Given the description of an element on the screen output the (x, y) to click on. 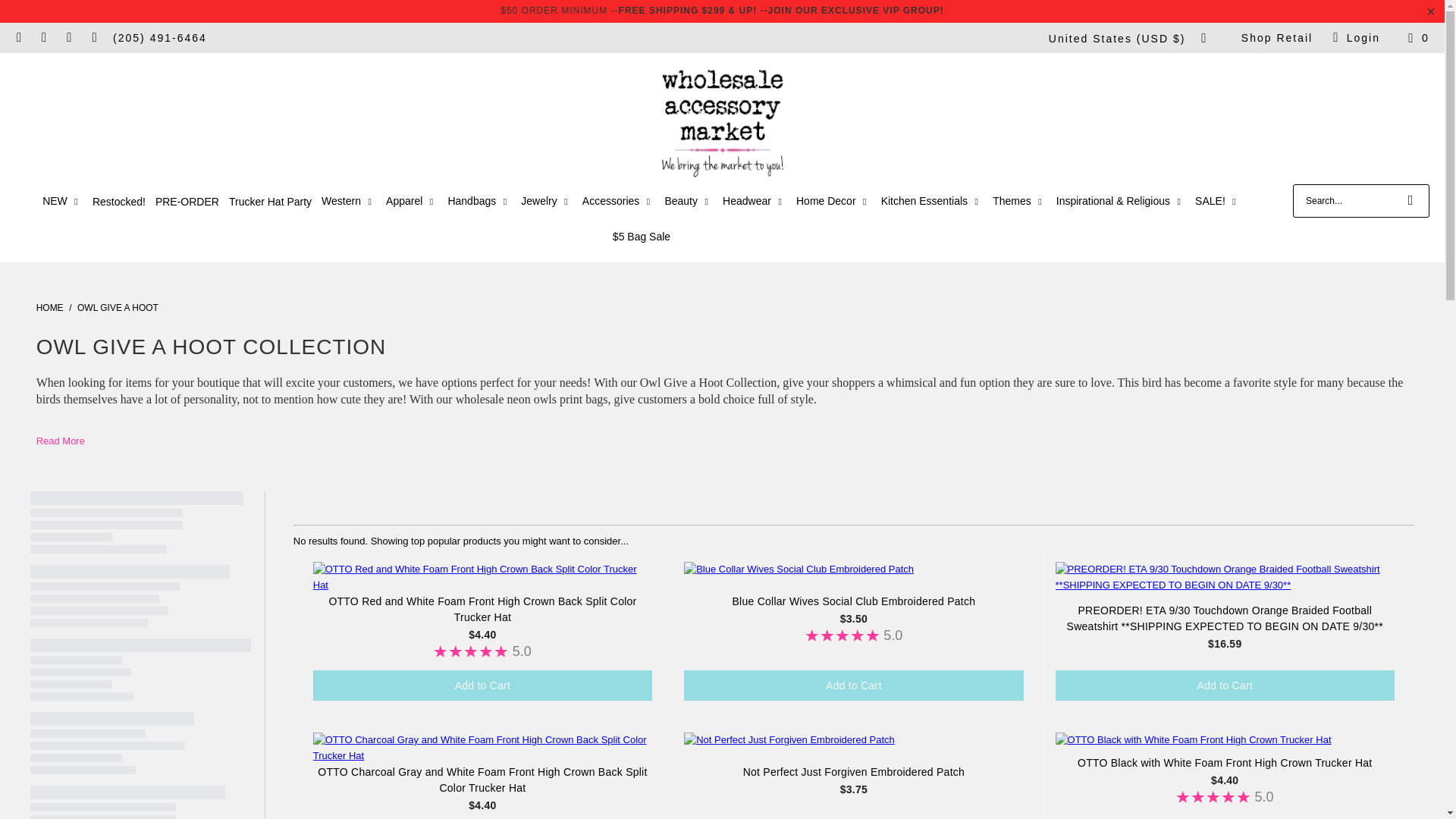
My Account  (1353, 37)
Wholesale Accessory Market (722, 122)
Owl Give a Hoot (117, 307)
Wholesale Accessory Market on Facebook (43, 37)
Wholesale Accessory Market on Instagram (69, 37)
Email Wholesale Accessory Market (18, 37)
Wholesale Accessory Market (50, 307)
Wholesale Accessory Market on Pinterest (94, 37)
